Given the description of an element on the screen output the (x, y) to click on. 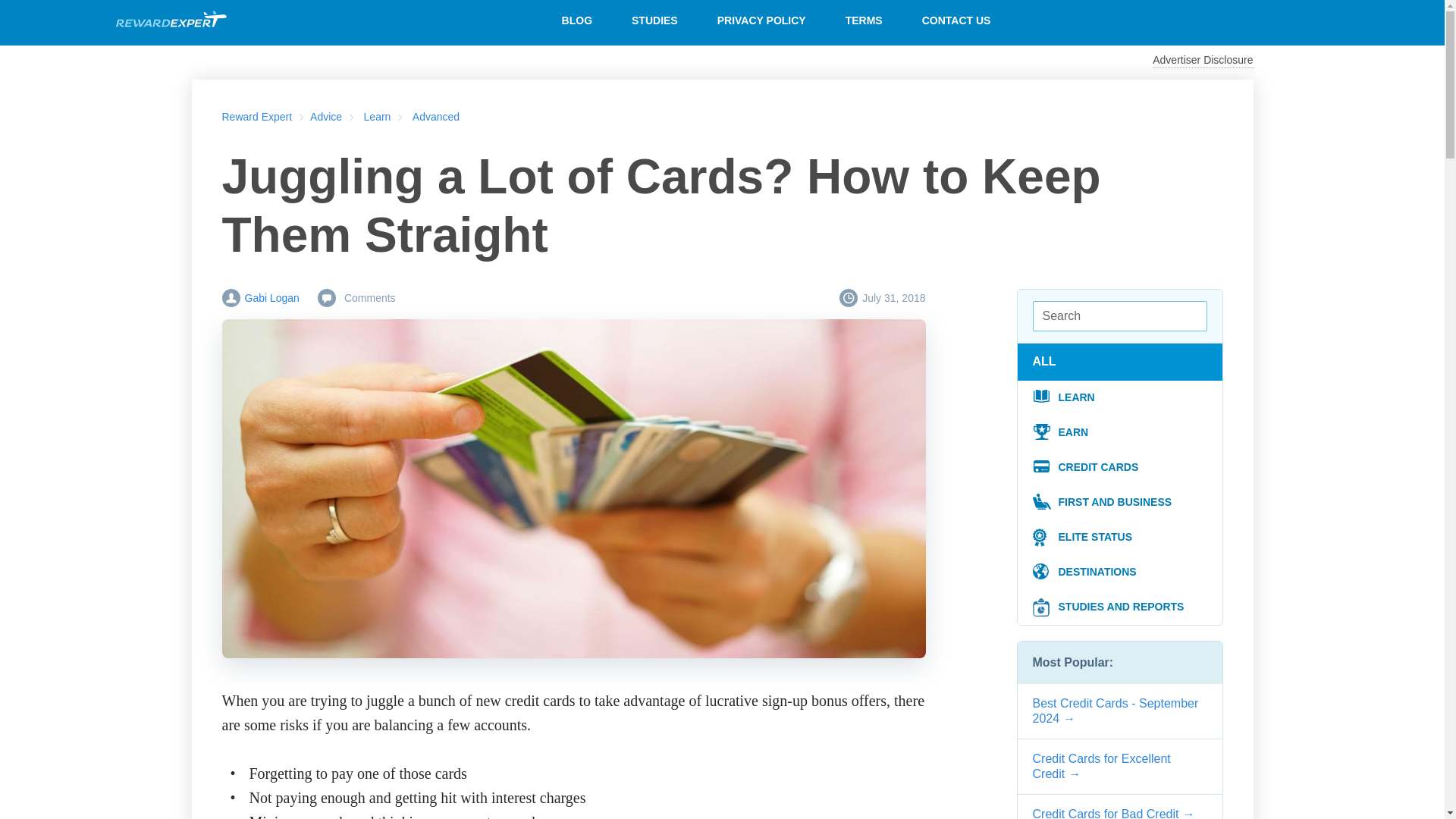
Gabi Logan (259, 298)
Learn (377, 116)
PRIVACY POLICY (761, 20)
Advanced (436, 116)
ALL (1048, 361)
Advertiser Disclosure (1202, 60)
LEARN (1120, 397)
STUDIES (654, 20)
Advice (326, 116)
EARN (1120, 432)
